Given the description of an element on the screen output the (x, y) to click on. 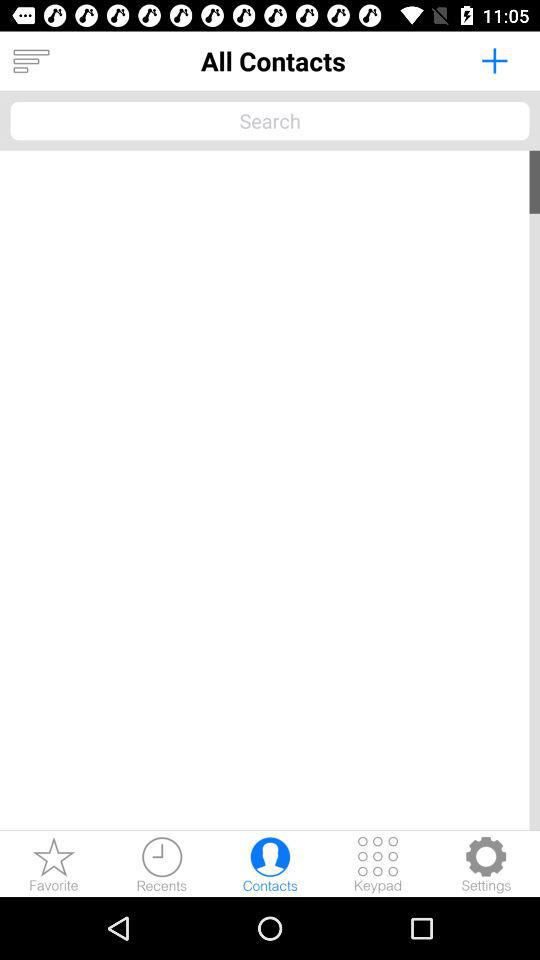
launch the item next to all contacts app (494, 60)
